Given the description of an element on the screen output the (x, y) to click on. 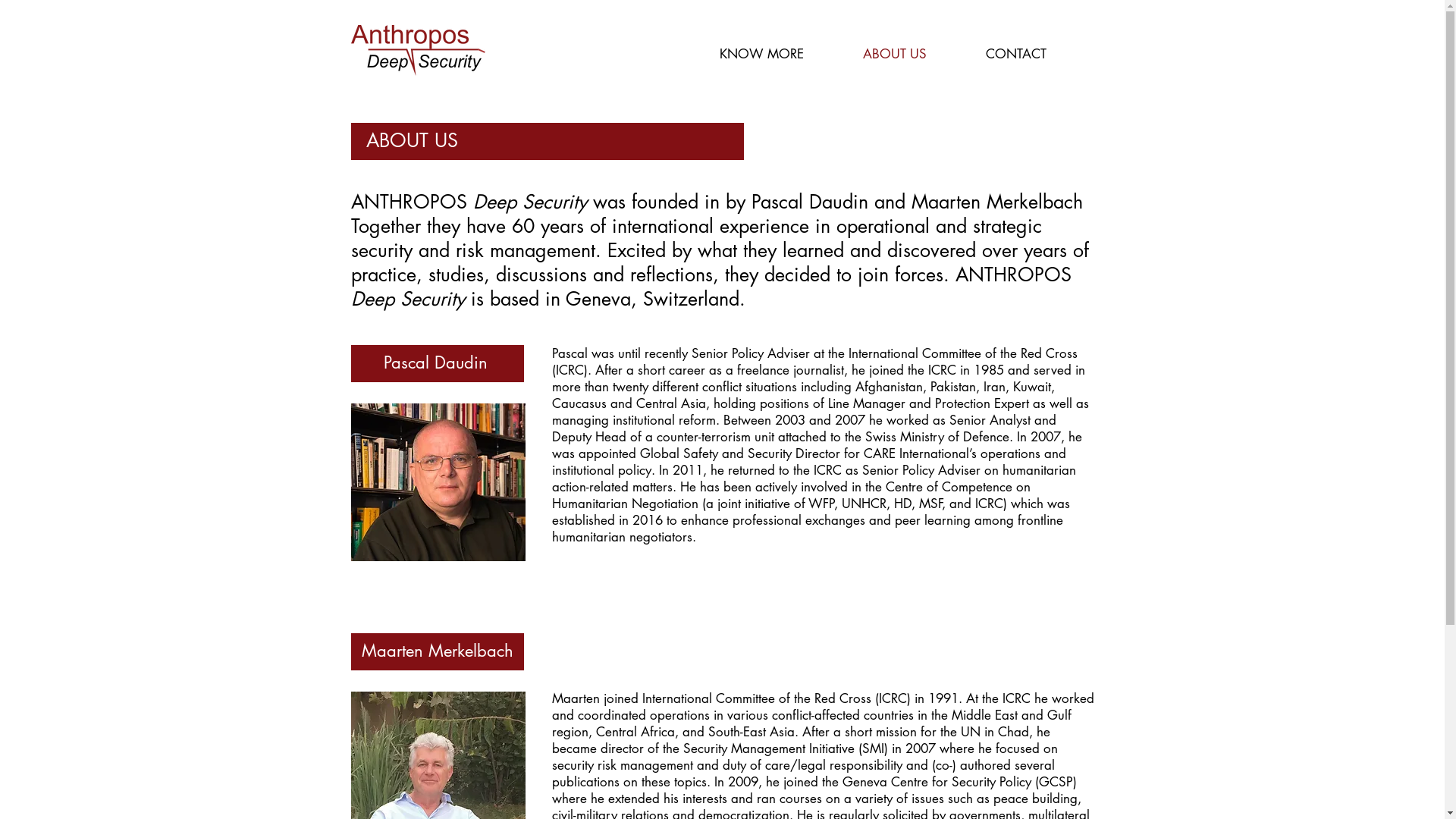
ABOUT US Element type: text (911, 54)
CONTACT Element type: text (1033, 54)
